Given the description of an element on the screen output the (x, y) to click on. 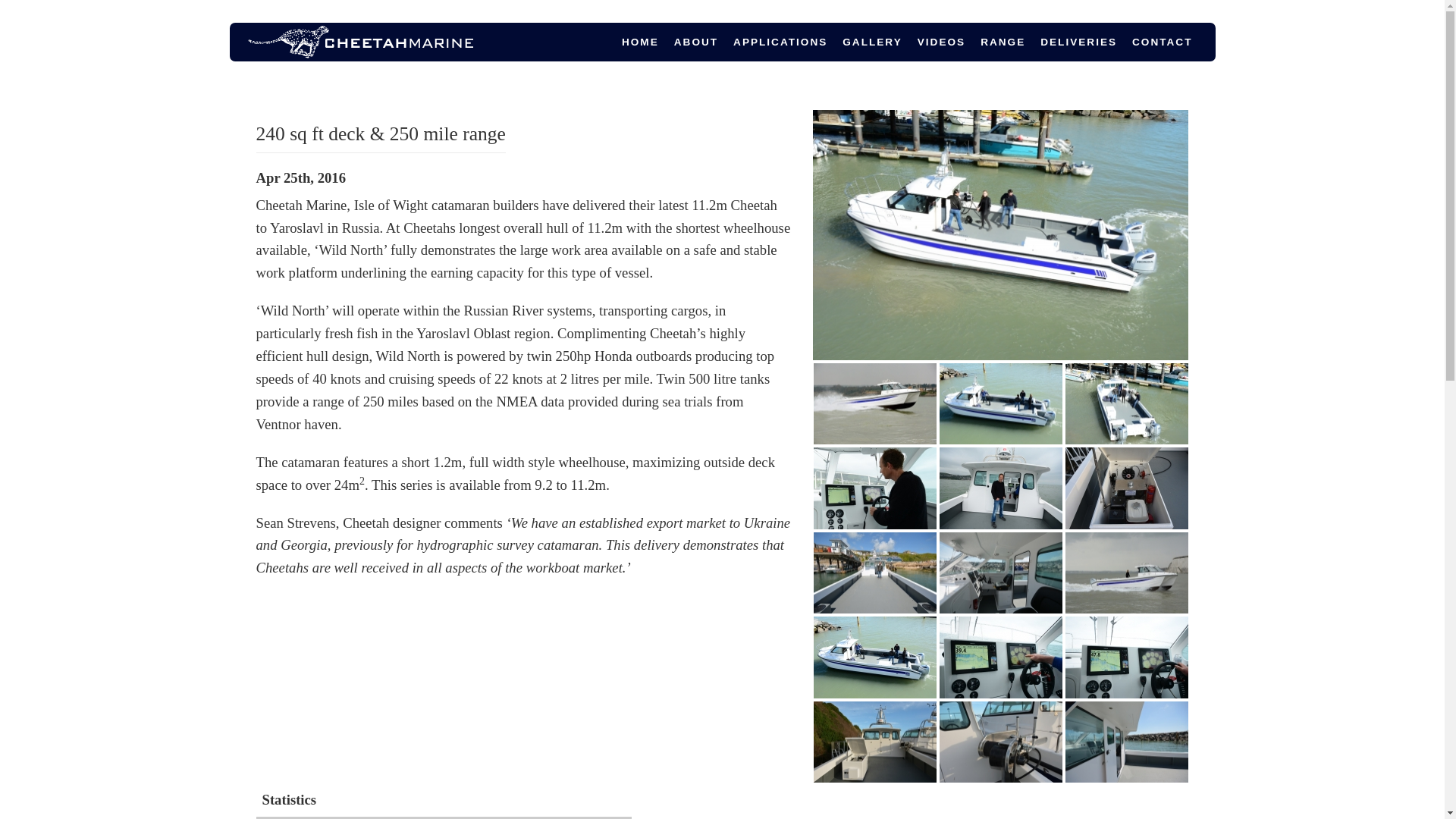
RANGE (1002, 41)
VIDEOS (941, 41)
DELIVERIES (1078, 41)
HOME (640, 41)
APPLICATIONS (779, 41)
GALLERY (871, 41)
ABOUT (695, 41)
CONTACT (1161, 41)
